Given the description of an element on the screen output the (x, y) to click on. 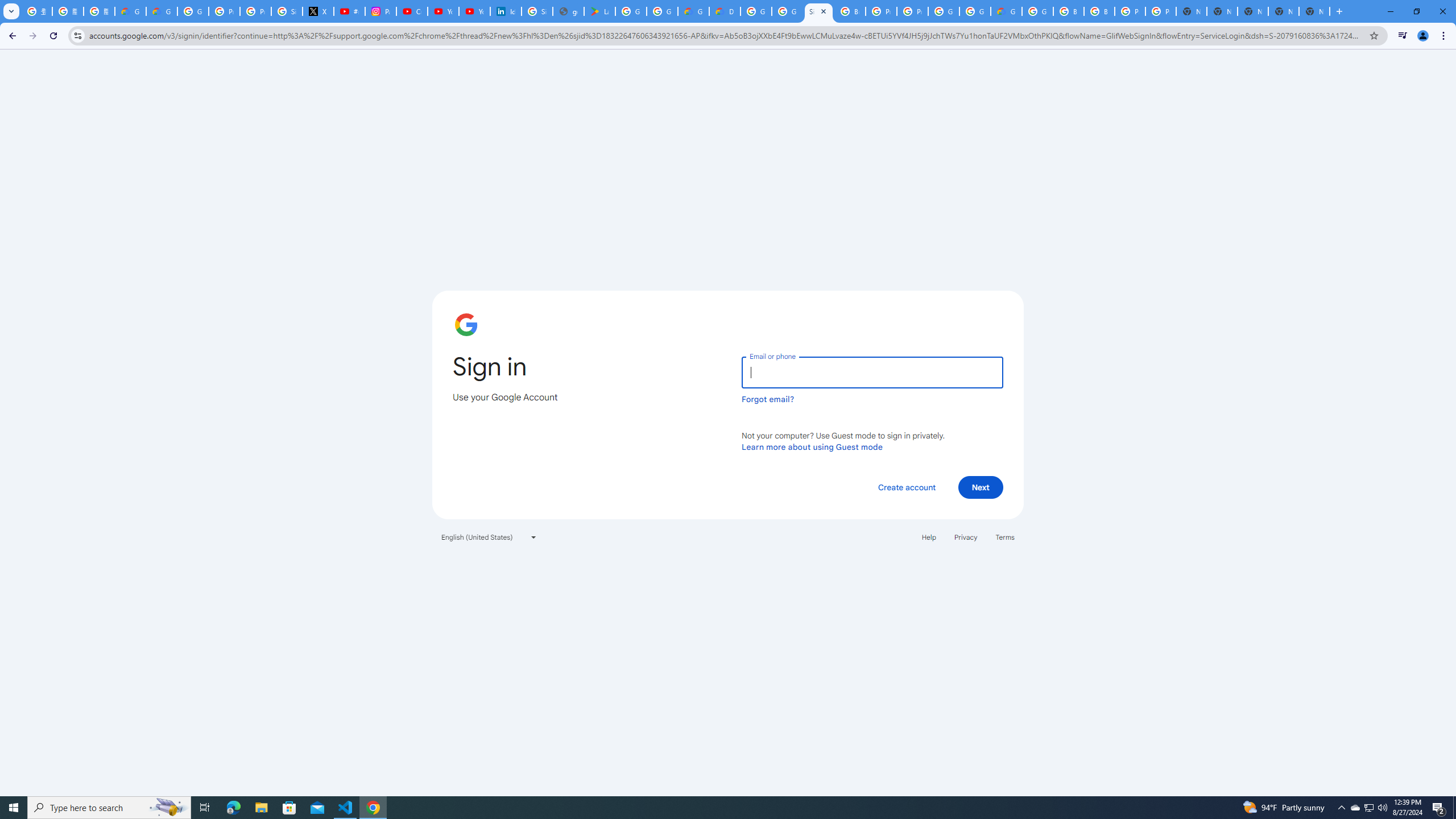
Government | Google Cloud (693, 11)
Forgot email? (767, 398)
New Tab (1314, 11)
